Given the description of an element on the screen output the (x, y) to click on. 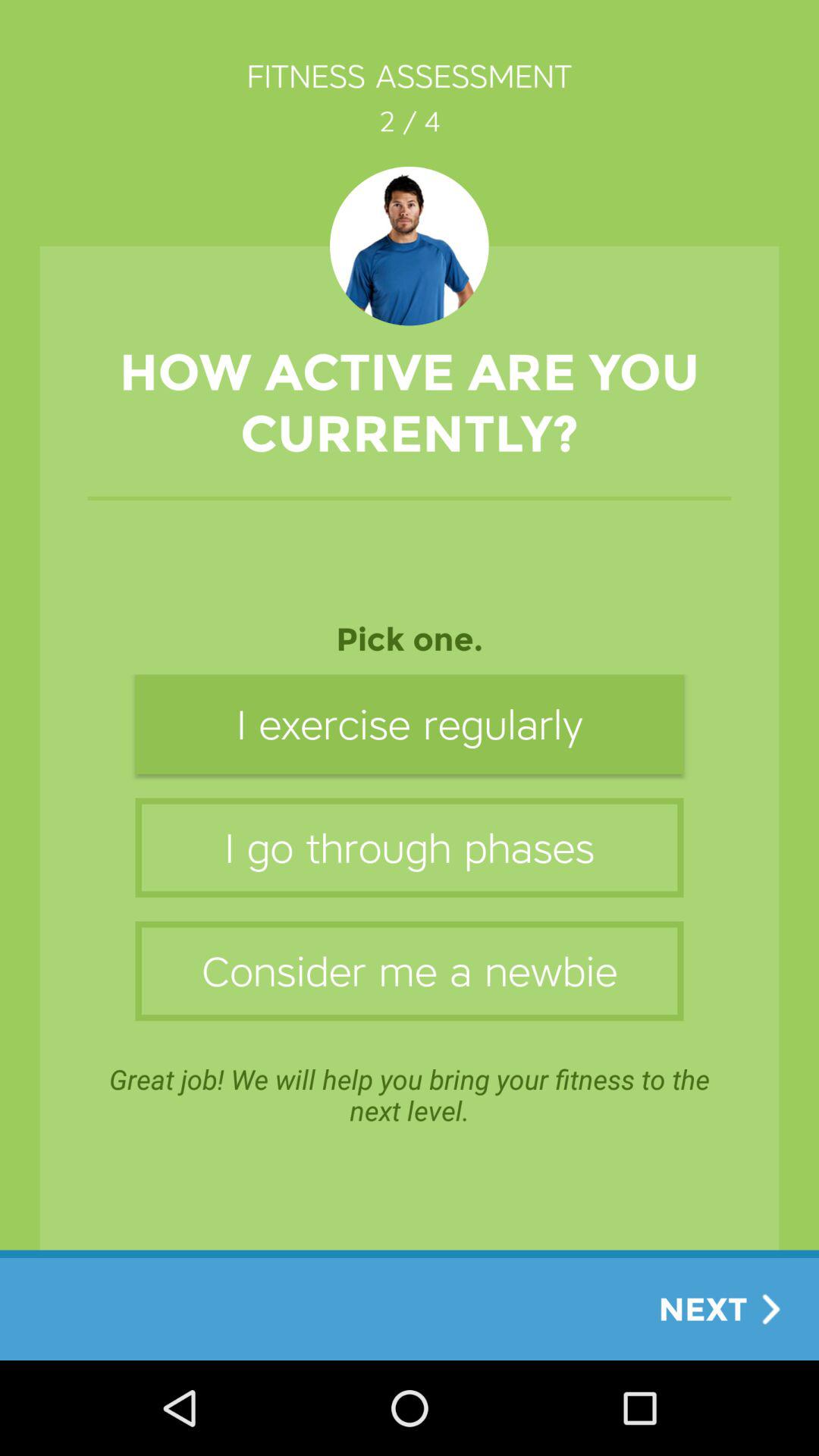
tap consider me a icon (409, 970)
